Given the description of an element on the screen output the (x, y) to click on. 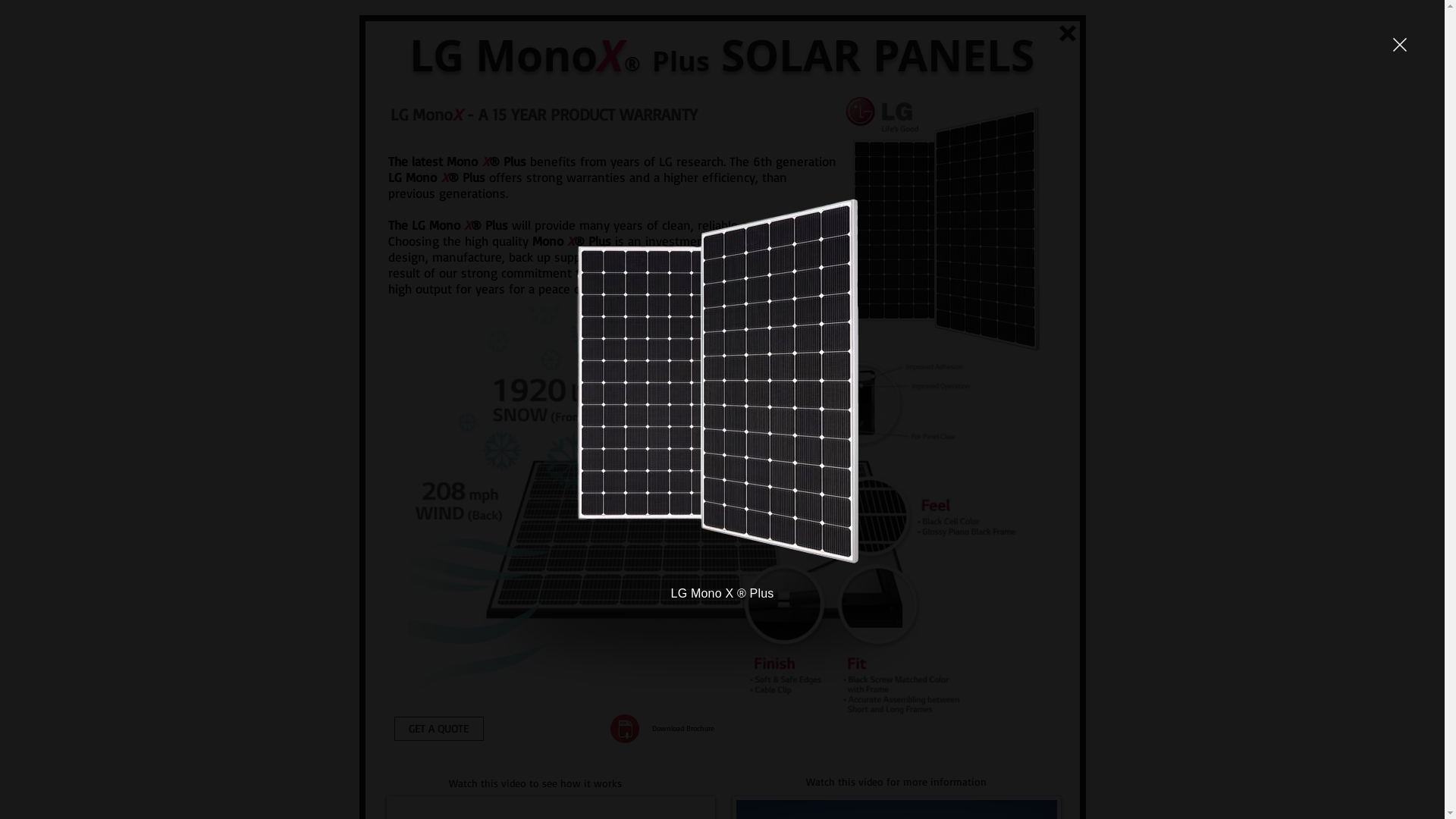
Download Brochure Element type: text (683, 727)
LG NeON2 Solar Panel Element type: hover (877, 110)
GET A QUOTE Element type: text (438, 727)
